Given the description of an element on the screen output the (x, y) to click on. 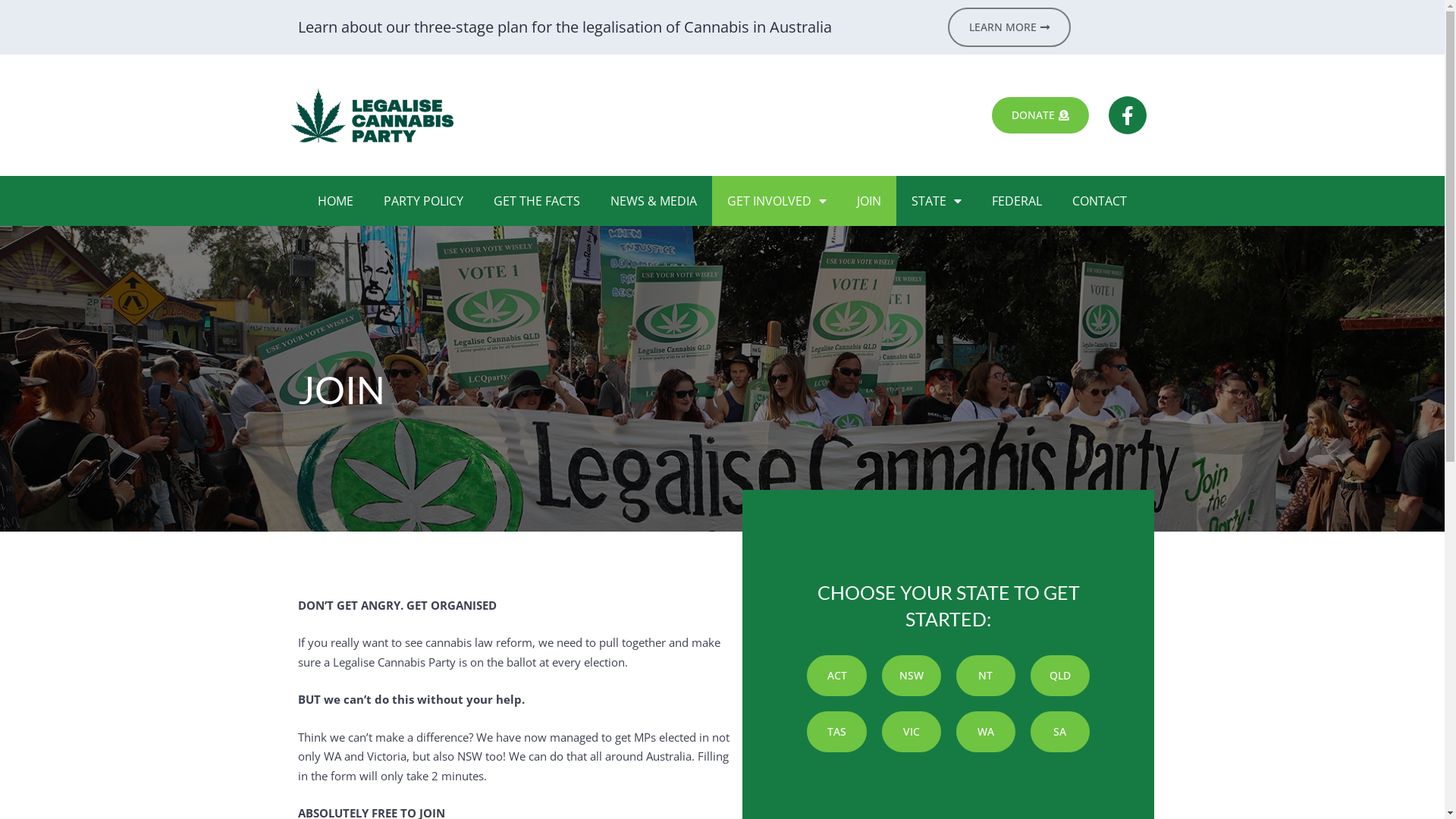
STATE Element type: text (936, 200)
FEDERAL Element type: text (1016, 200)
QLD Element type: text (1059, 675)
VIC Element type: text (911, 731)
TAS Element type: text (836, 731)
SA Element type: text (1059, 731)
JOIN Element type: text (868, 200)
GET INVOLVED Element type: text (776, 200)
CONTACT Element type: text (1099, 200)
HOME Element type: text (335, 200)
PARTY POLICY Element type: text (423, 200)
DONATE Element type: text (1039, 115)
Facebook-f Element type: text (1127, 115)
NT Element type: text (985, 675)
NEWS & MEDIA Element type: text (653, 200)
WA Element type: text (985, 731)
LEARN MORE Element type: text (1008, 27)
NSW Element type: text (911, 675)
GET THE FACTS Element type: text (536, 200)
ACT Element type: text (836, 675)
